Given the description of an element on the screen output the (x, y) to click on. 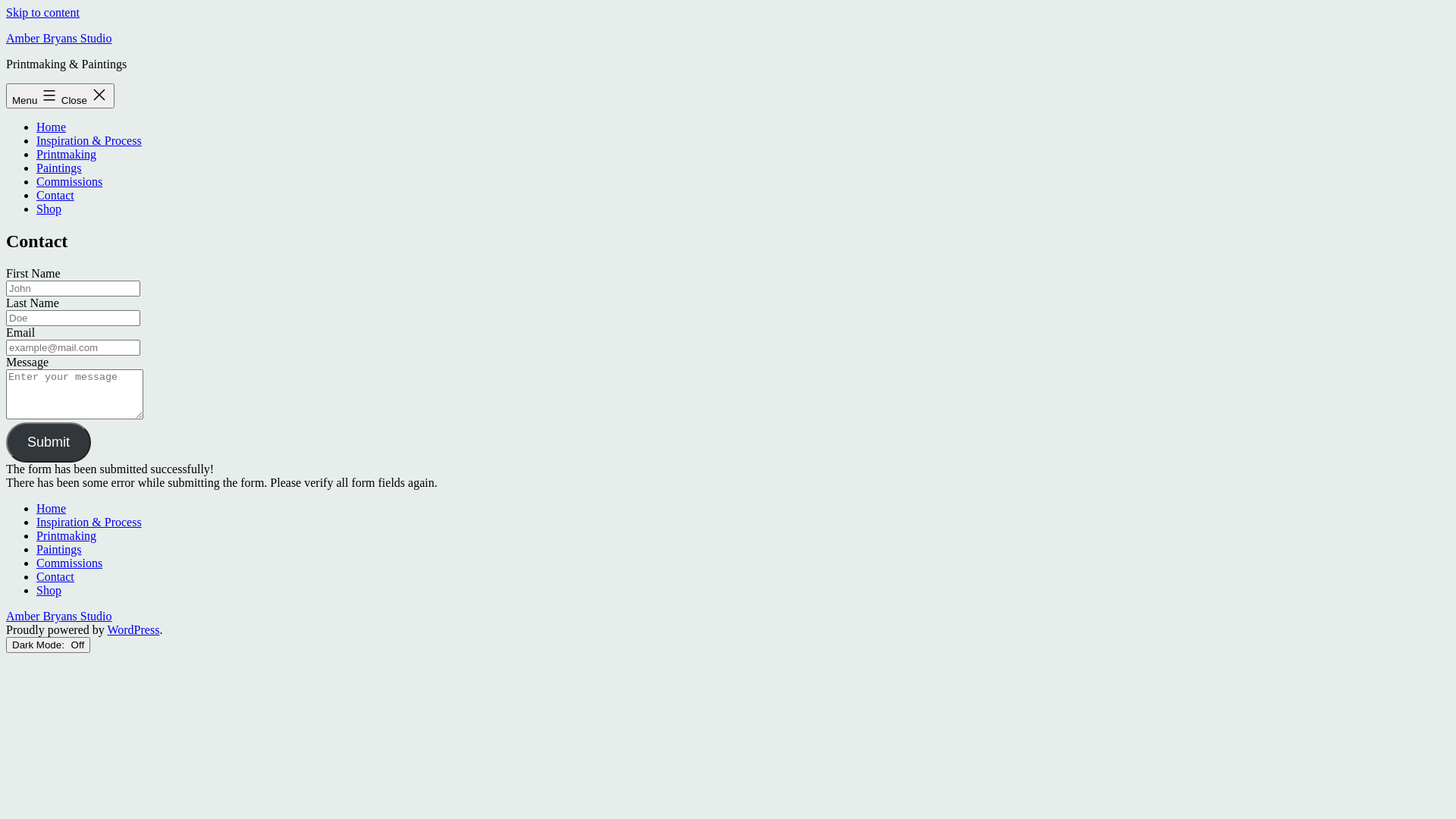
Contact Element type: text (55, 576)
Shop Element type: text (48, 589)
Dark Mode: Element type: text (48, 644)
WordPress Element type: text (132, 629)
Printmaking Element type: text (66, 535)
Menu Close Element type: text (60, 95)
Shop Element type: text (48, 208)
Home Element type: text (50, 126)
Submit Element type: text (48, 442)
Inspiration & Process Element type: text (88, 140)
Commissions Element type: text (69, 562)
Inspiration & Process Element type: text (88, 521)
Contact Element type: text (55, 194)
Paintings Element type: text (58, 167)
Commissions Element type: text (69, 181)
Skip to content Element type: text (42, 12)
Printmaking Element type: text (66, 153)
Home Element type: text (50, 508)
Amber Bryans Studio Element type: text (59, 615)
Paintings Element type: text (58, 548)
Amber Bryans Studio Element type: text (59, 37)
